Given the description of an element on the screen output the (x, y) to click on. 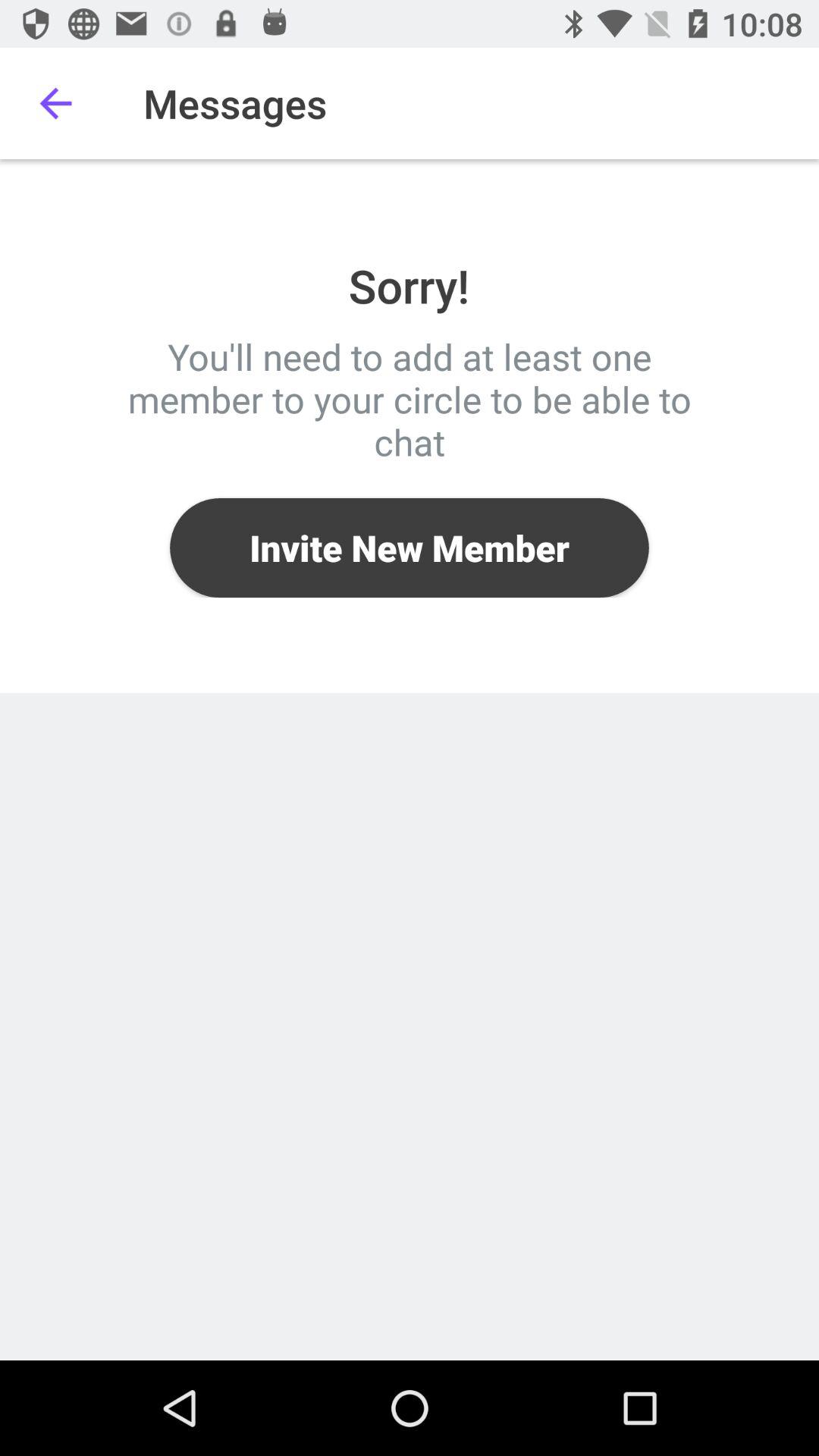
press the icon next to the messages (55, 103)
